Given the description of an element on the screen output the (x, y) to click on. 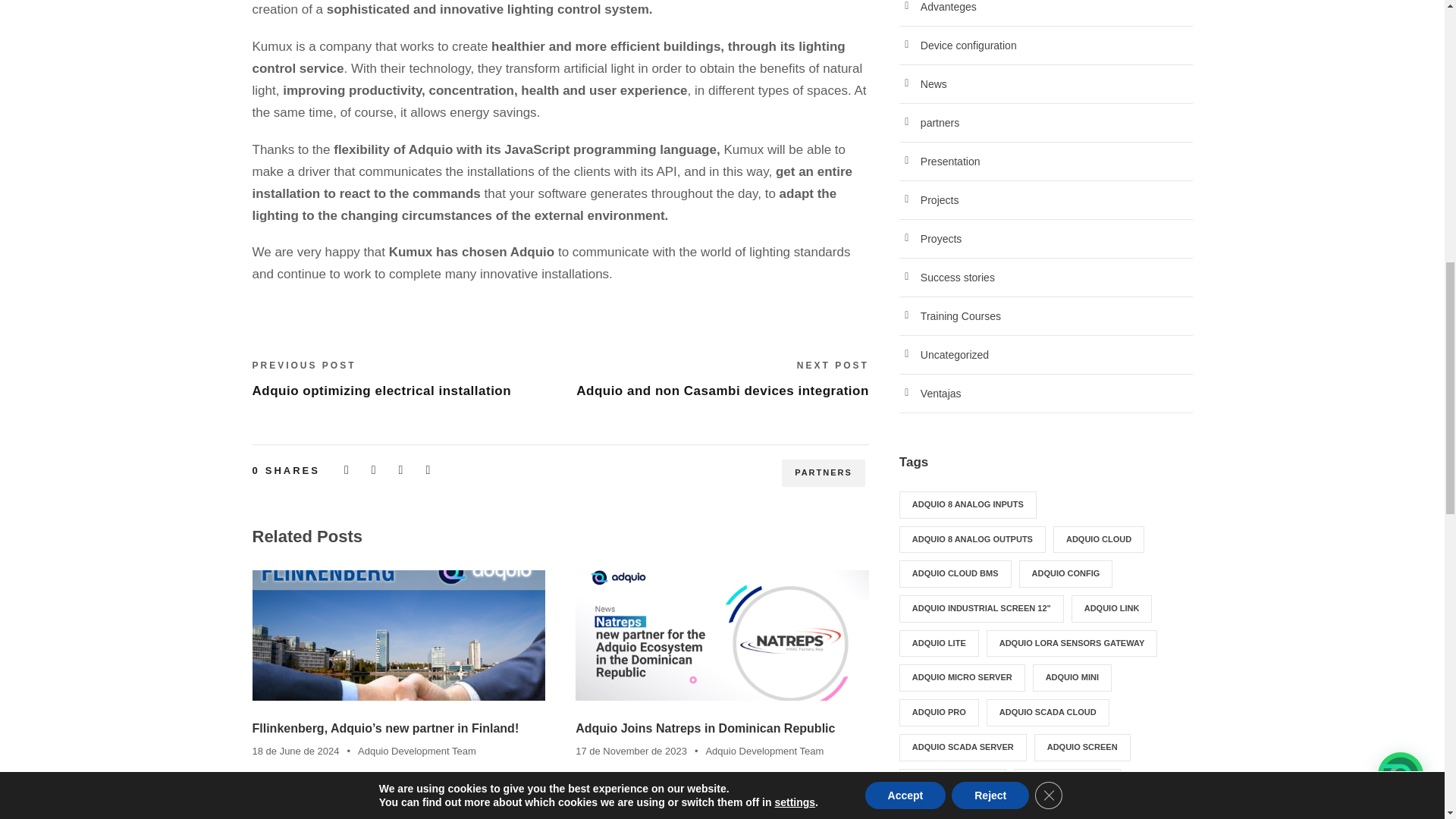
Posts by Adquio Development Team (764, 750)
Flinkenberg-Adquio Partnership (397, 635)
Wellcome to Natreps as new Adquio partner (722, 635)
Posts by Adquio Development Team (417, 750)
